Given the description of an element on the screen output the (x, y) to click on. 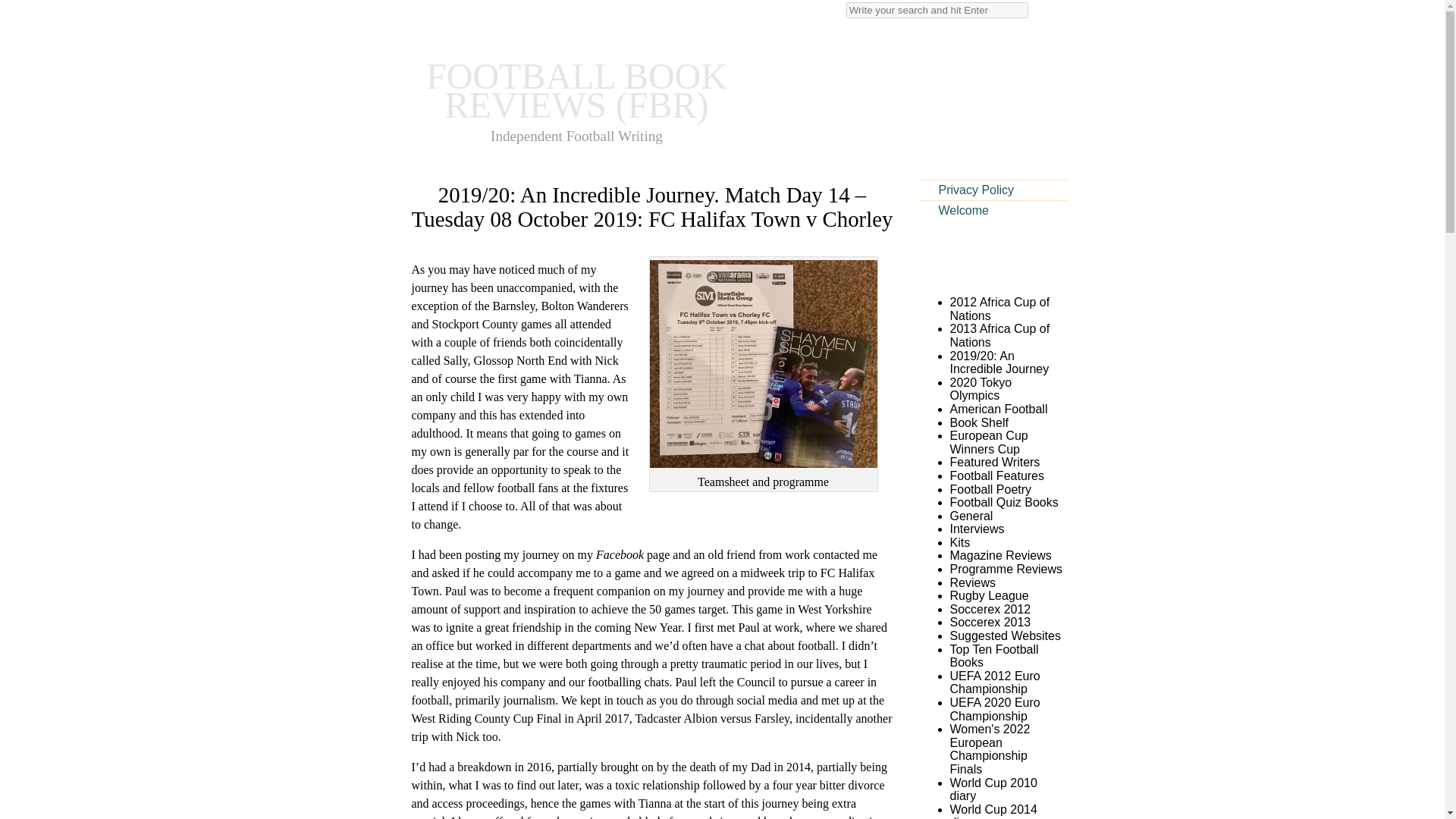
General (970, 515)
American Football (997, 408)
Soccerex 2012 (989, 608)
Football Features (996, 475)
Search (21, 7)
Featured Writers (994, 461)
Kits (959, 542)
Book Shelf (978, 422)
Football Quiz Books (1003, 502)
Magazine Reviews (1000, 554)
